Given the description of an element on the screen output the (x, y) to click on. 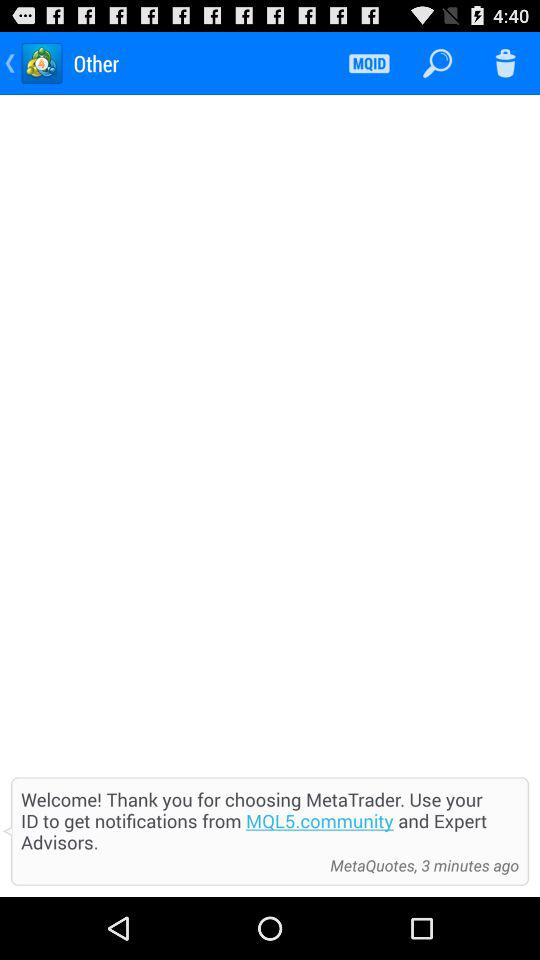
click icon next to the metaquotes 3 minutes (170, 865)
